Given the description of an element on the screen output the (x, y) to click on. 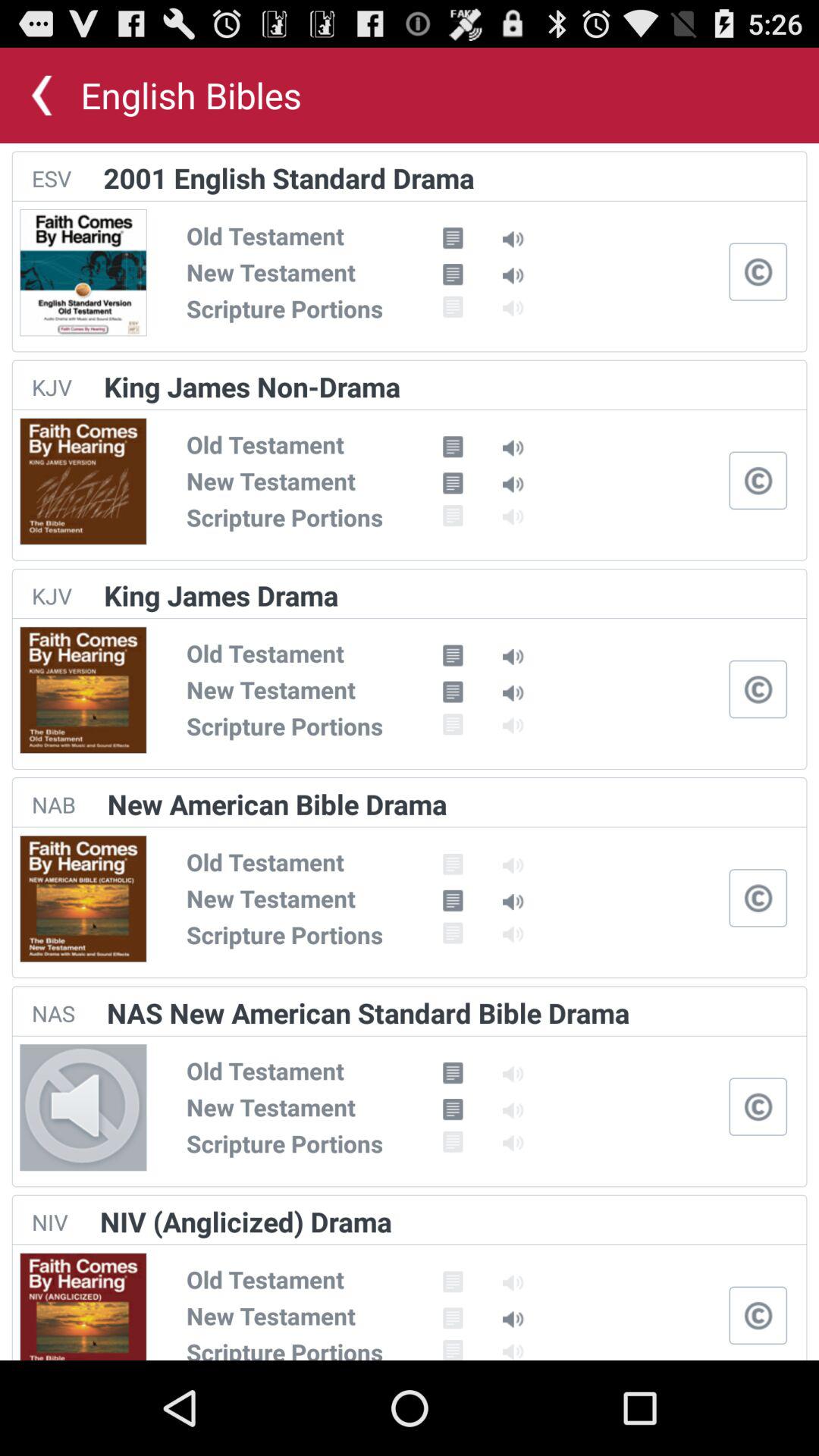
closed captioning (758, 271)
